Given the description of an element on the screen output the (x, y) to click on. 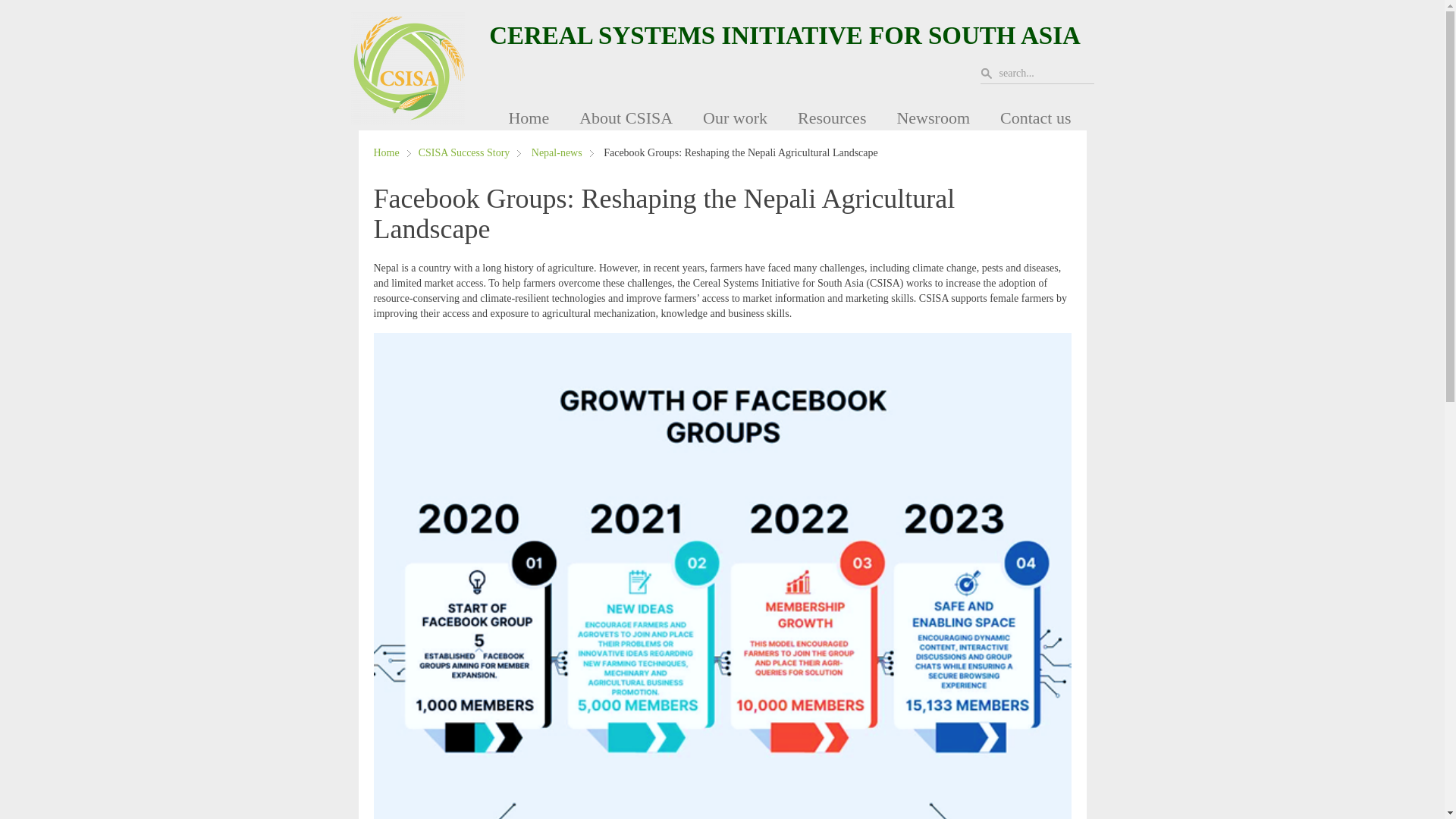
CSISA Success Story (470, 152)
Newsroom (932, 118)
About CSISA (625, 118)
Contact us (1035, 118)
Home (528, 118)
Resources (831, 118)
Our work (734, 118)
Reset (3, 2)
Home (391, 152)
Nepal-news (562, 152)
